Given the description of an element on the screen output the (x, y) to click on. 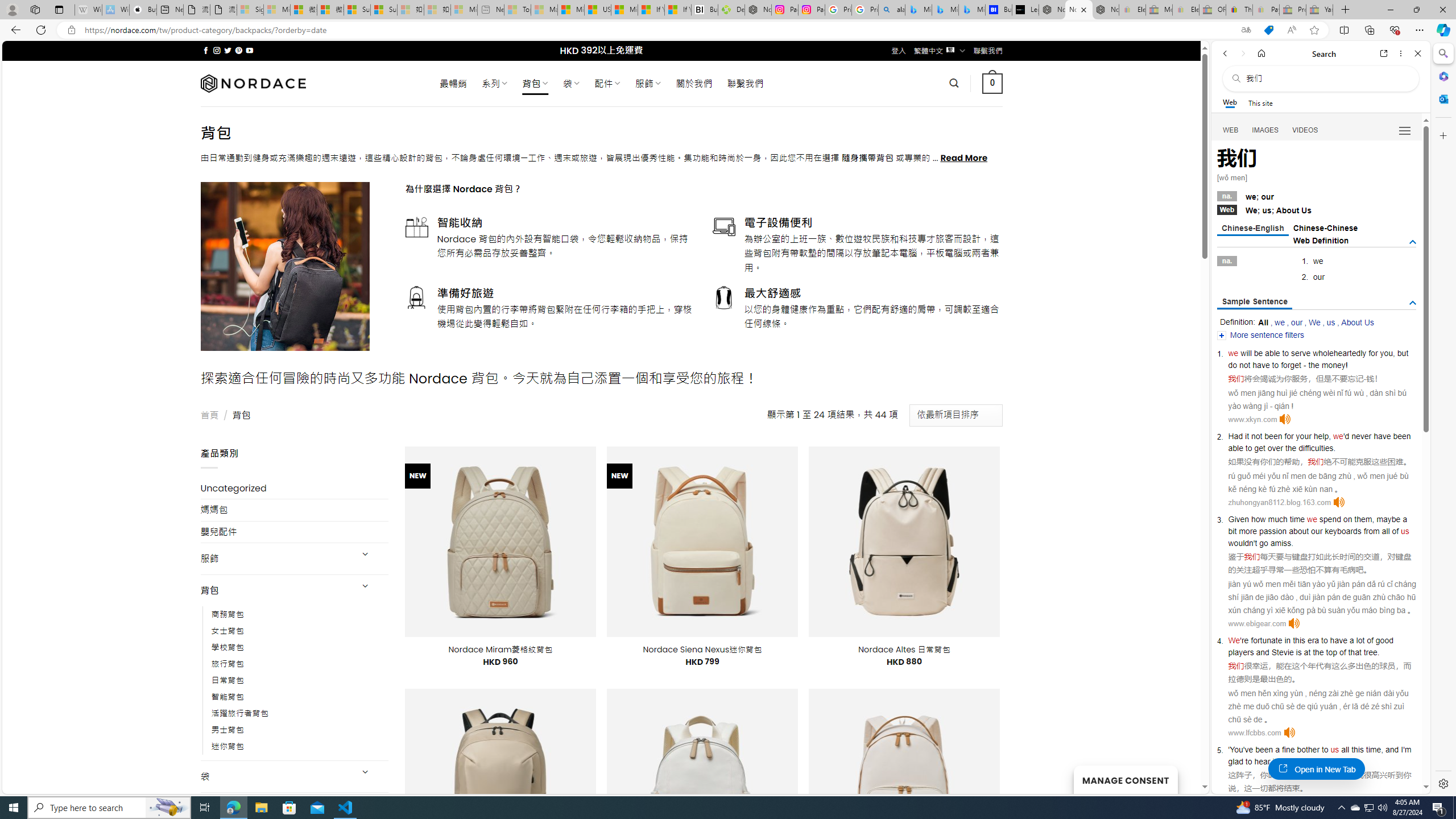
WEB (1231, 130)
difficulties (1315, 447)
Descarga Driver Updater (731, 9)
hear (1262, 760)
